Given the description of an element on the screen output the (x, y) to click on. 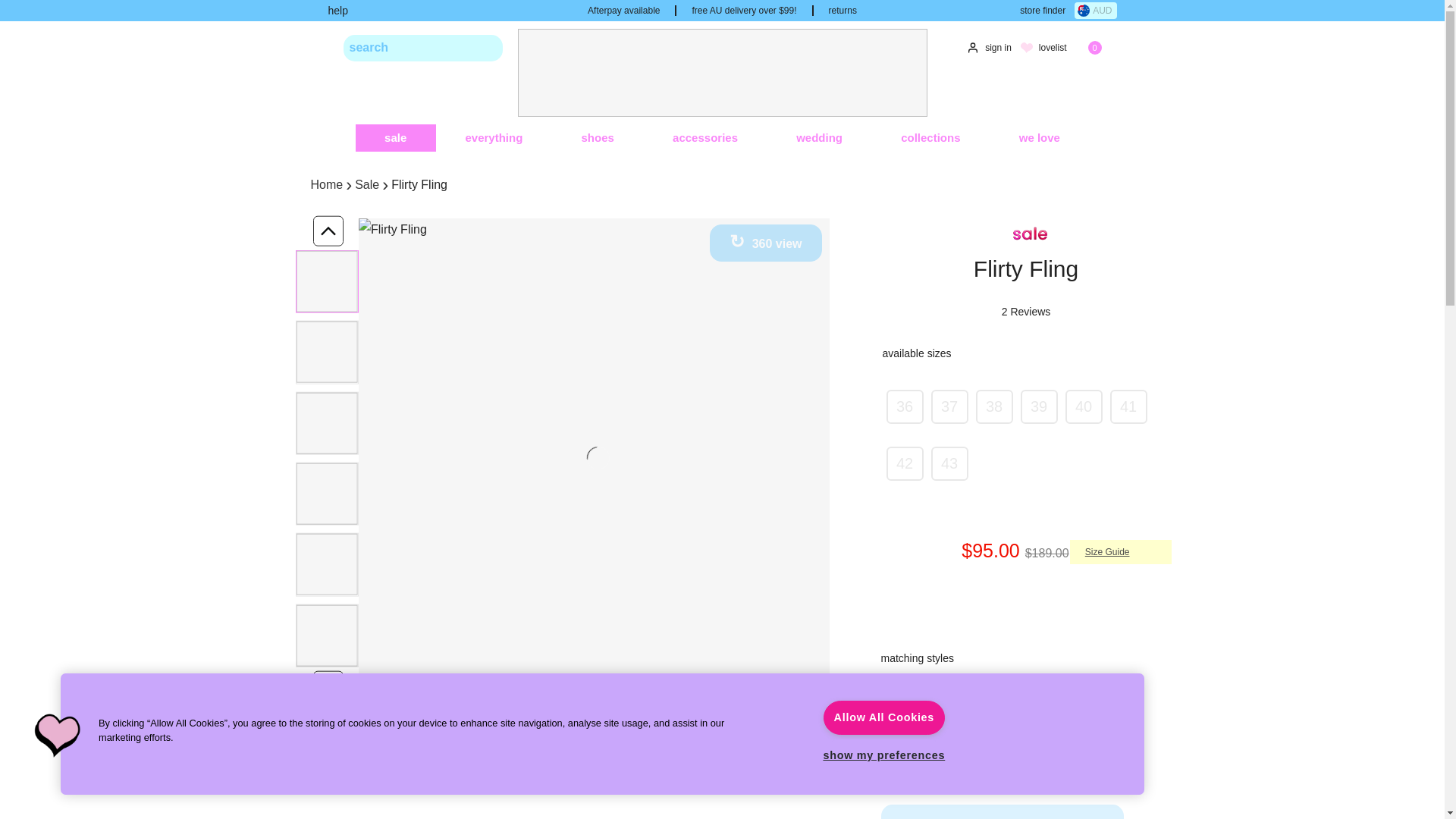
help (337, 10)
everything (493, 137)
Flirty Fling (913, 707)
returns (842, 9)
AUD (1095, 10)
Company Logo (57, 737)
store finder (1035, 10)
Home (327, 184)
sale (395, 137)
